Given the description of an element on the screen output the (x, y) to click on. 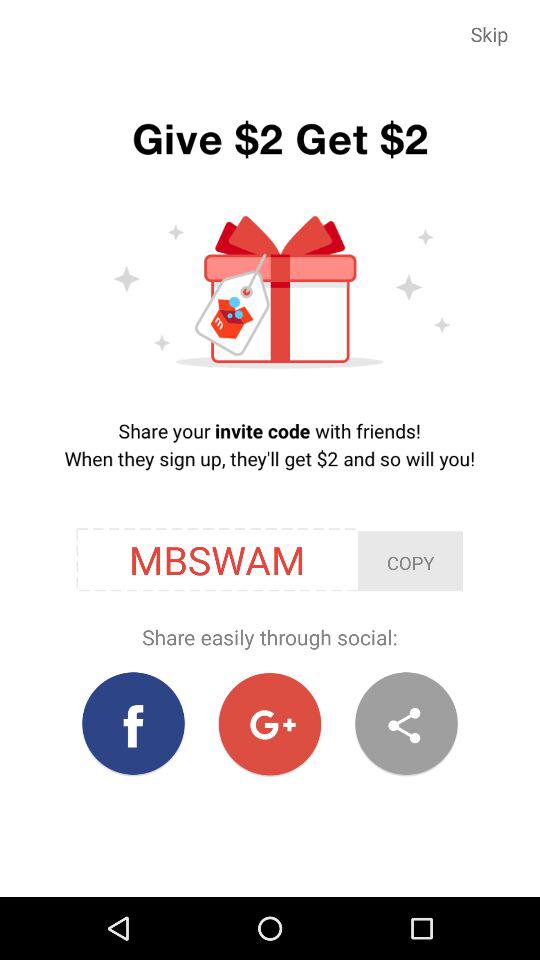
click item below share easily through (269, 724)
